Given the description of an element on the screen output the (x, y) to click on. 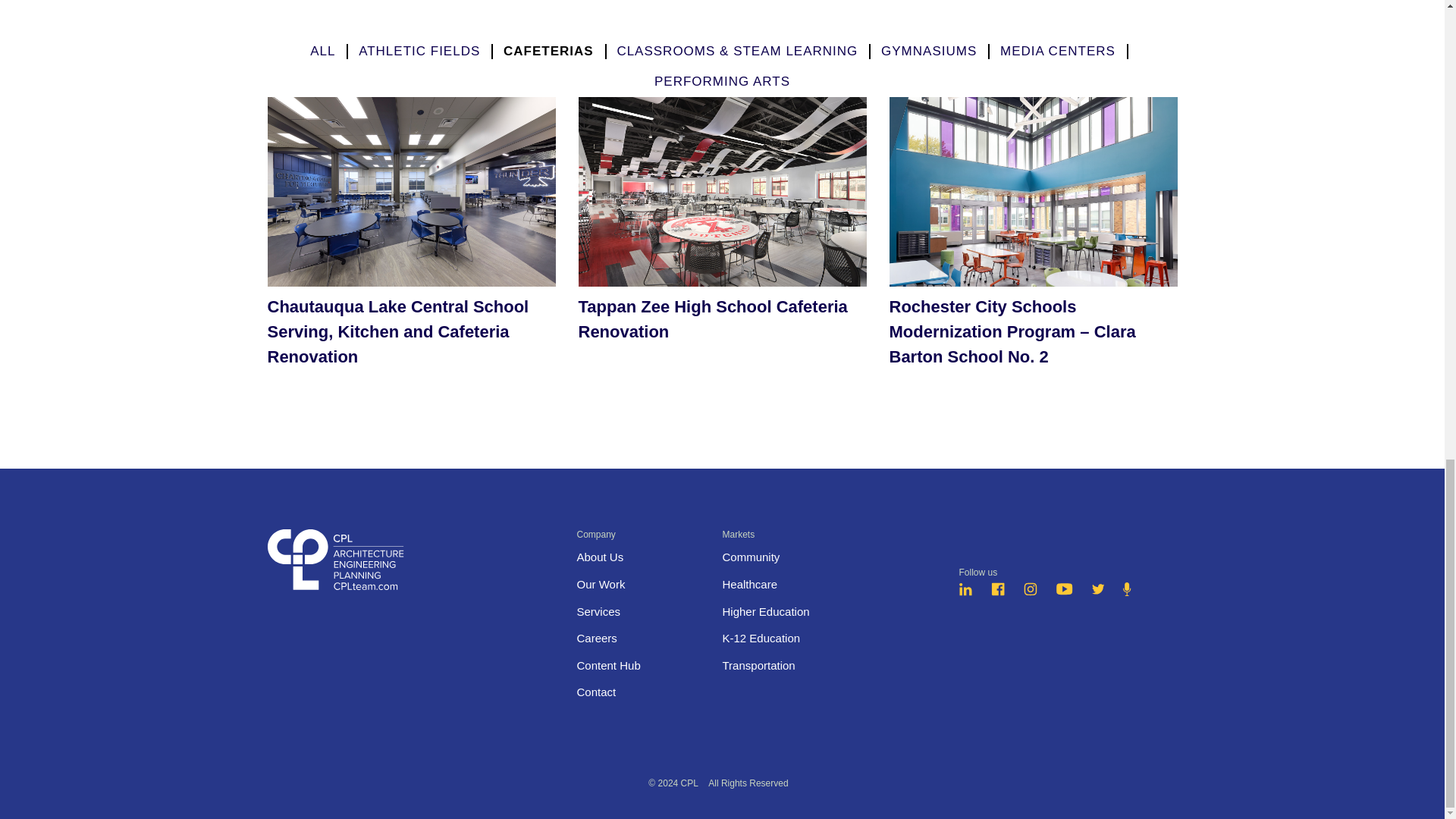
Our Work (600, 584)
MEDIA CENTERS (1057, 51)
YouTube (1065, 590)
ATHLETIC FIELDS (419, 51)
CAFETERIAS (548, 51)
GYMNASIUMS (928, 51)
ALL (322, 51)
Services (598, 611)
About Us (599, 556)
PERFORMING ARTS (721, 81)
Tappan Zee High School Cafeteria Renovation (722, 237)
Facebook (997, 590)
Instagram (1029, 590)
